Given the description of an element on the screen output the (x, y) to click on. 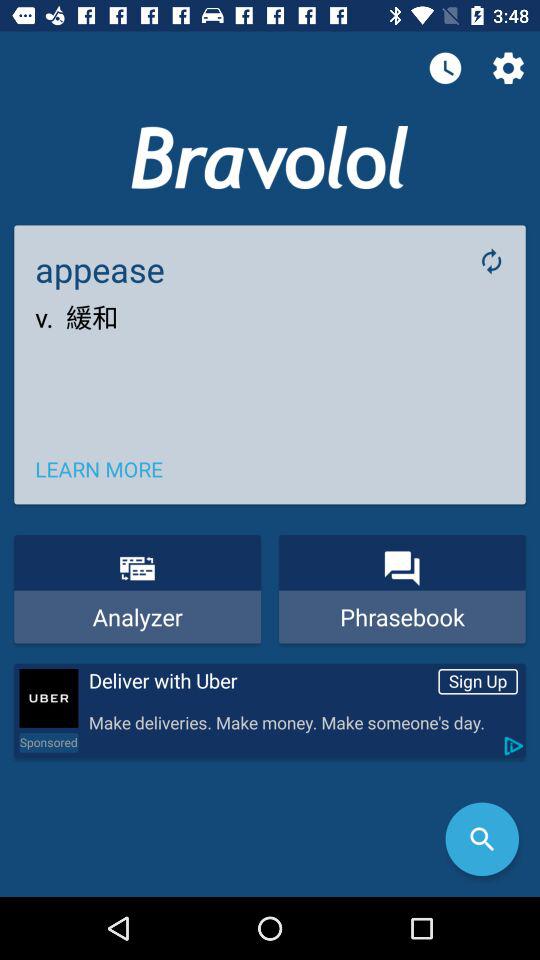
flip to the sponsored item (48, 742)
